Given the description of an element on the screen output the (x, y) to click on. 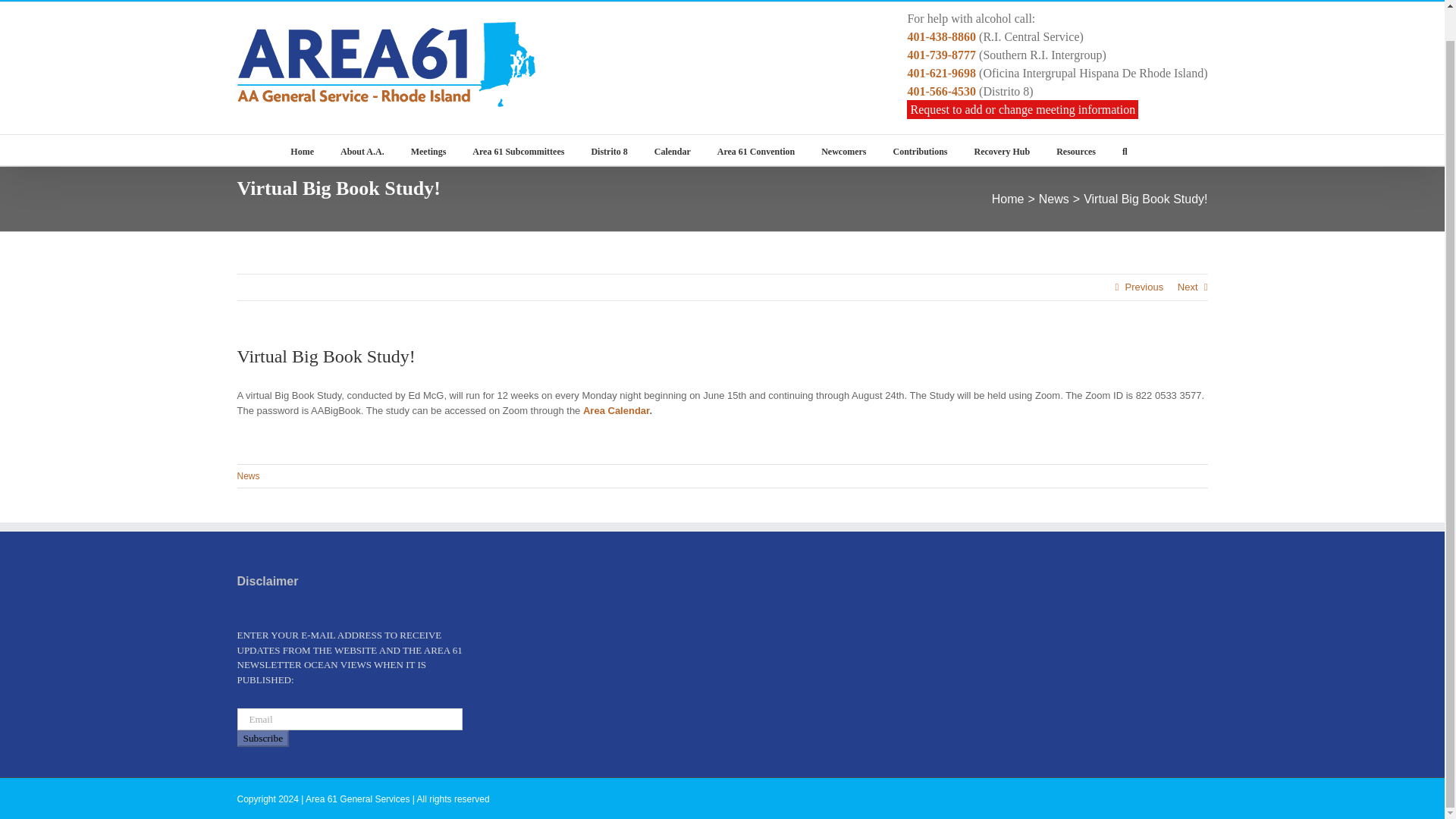
Meetings (428, 150)
401-566-4530 (941, 91)
Area 61 Subcommittees (517, 150)
401-739-8777 (941, 54)
401-438-8860 (941, 36)
401-621-9698 (941, 72)
About A.A. (362, 150)
Request to add or change meeting information (1022, 108)
Subscribe (261, 738)
